Given the description of an element on the screen output the (x, y) to click on. 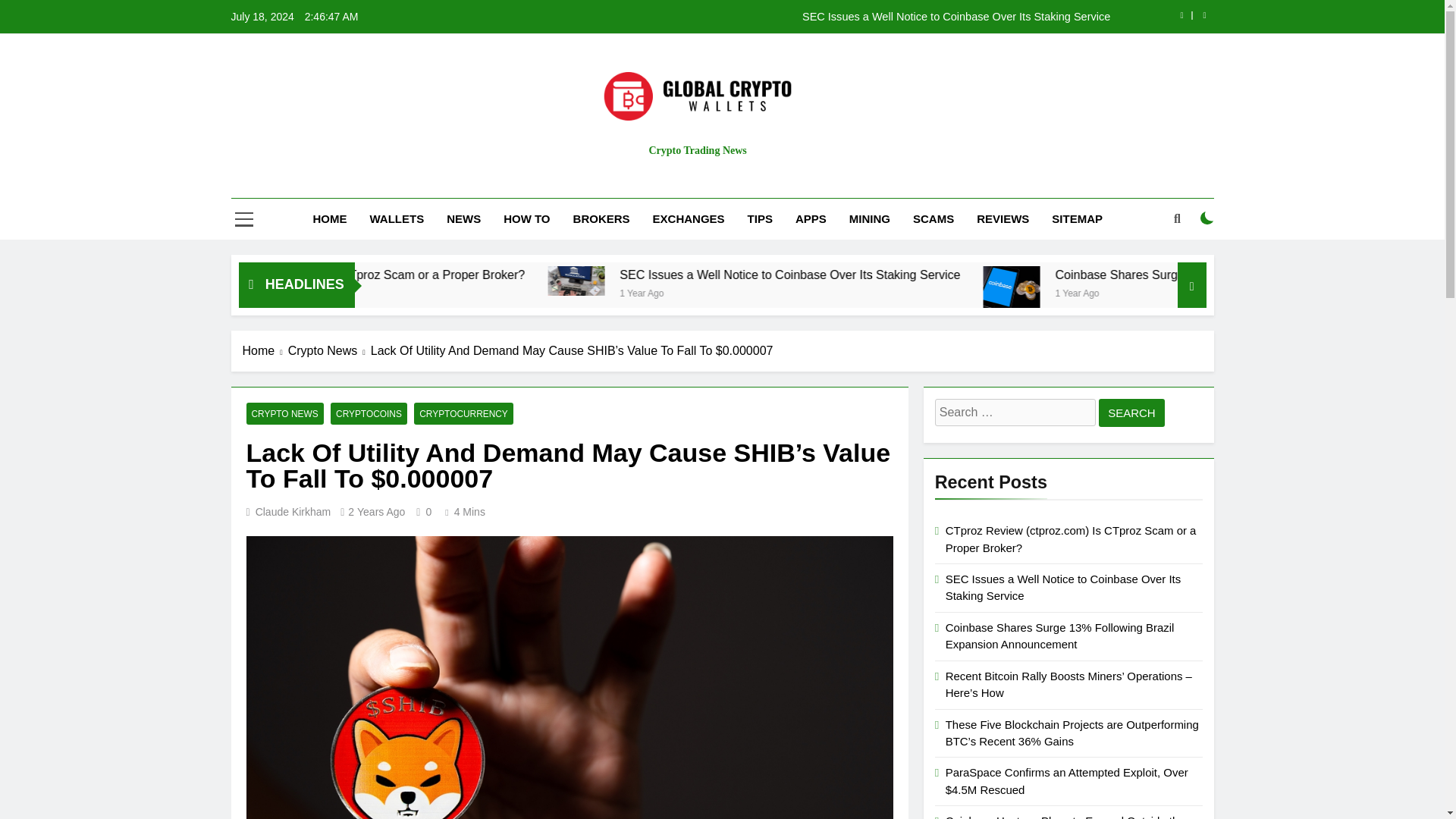
Crypto Trading News (696, 150)
APPS (811, 219)
Search (1131, 412)
BROKERS (602, 219)
EXCHANGES (689, 219)
HOME (329, 219)
HOW TO (526, 219)
1 Year Ago (829, 291)
TIPS (760, 219)
Search (1131, 412)
